Given the description of an element on the screen output the (x, y) to click on. 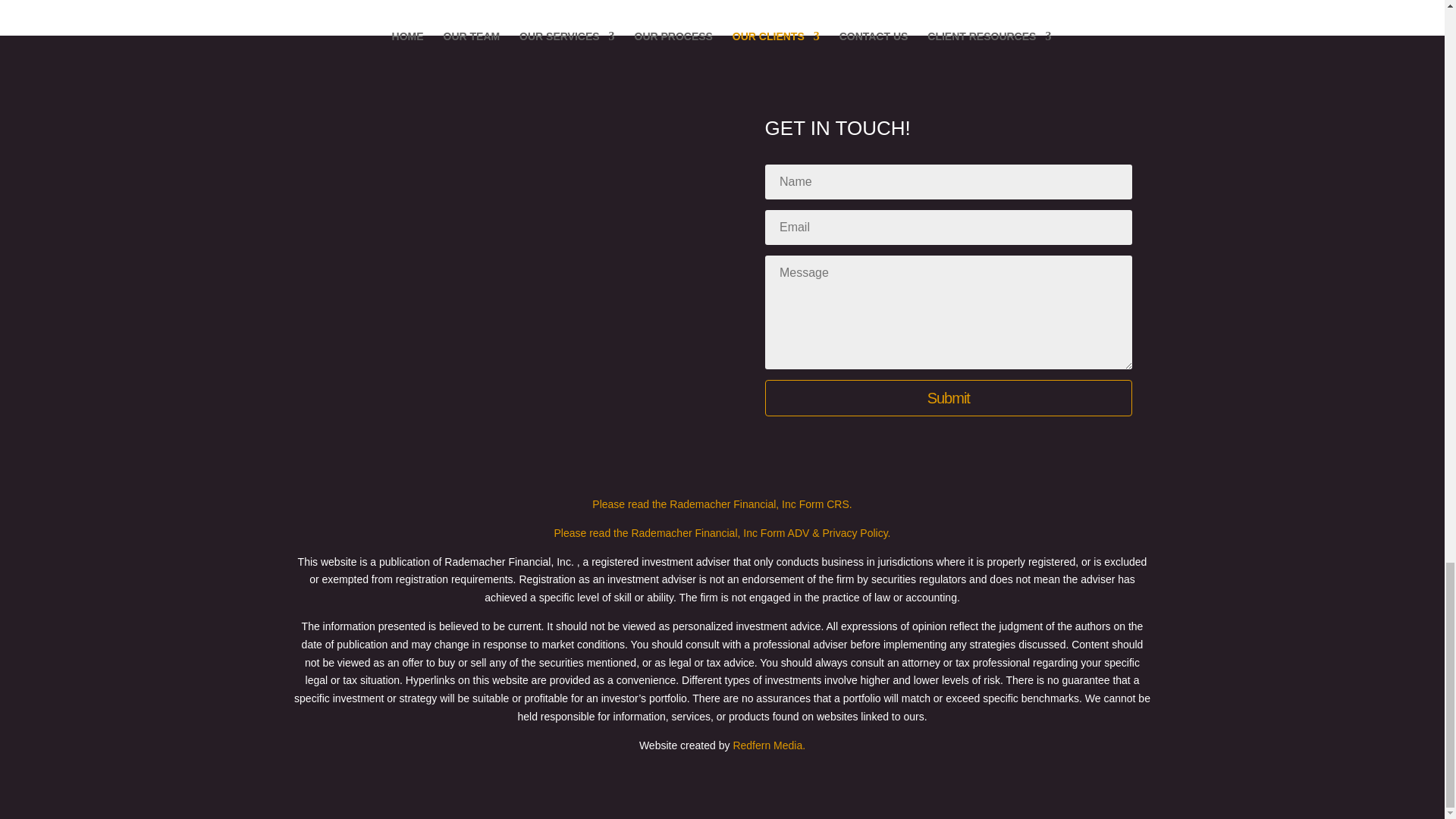
Please read the Rademacher Financial, Inc Form CRS. (721, 503)
Redfern Media. (768, 745)
Submit (948, 398)
